Given the description of an element on the screen output the (x, y) to click on. 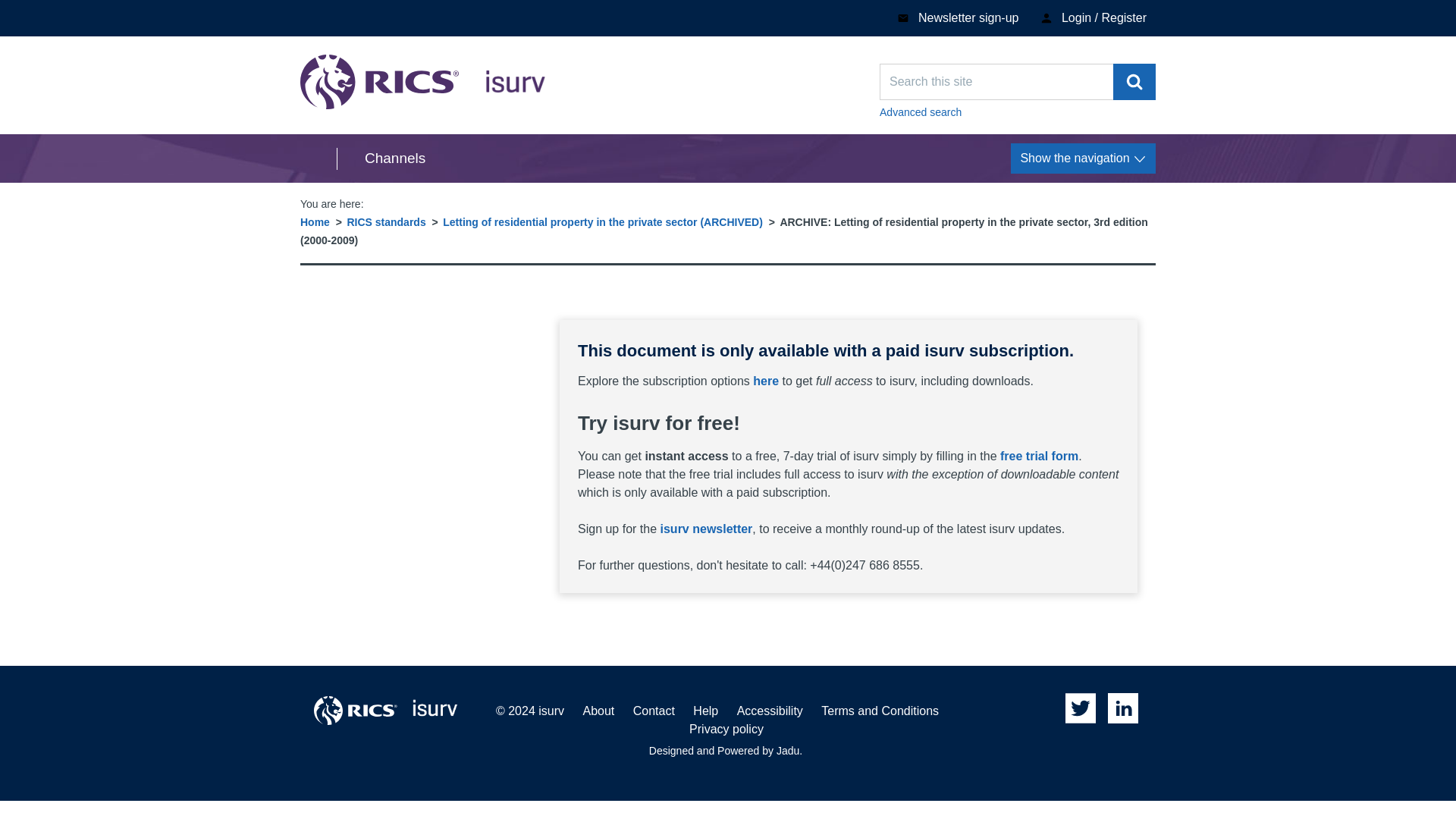
Channels (380, 158)
RICS (355, 710)
Home (314, 222)
free trial form (1039, 455)
isurv newsletter (706, 528)
RICS standards (422, 81)
Advanced search (385, 222)
Search (1017, 112)
Show the navigation (1134, 81)
